Given the description of an element on the screen output the (x, y) to click on. 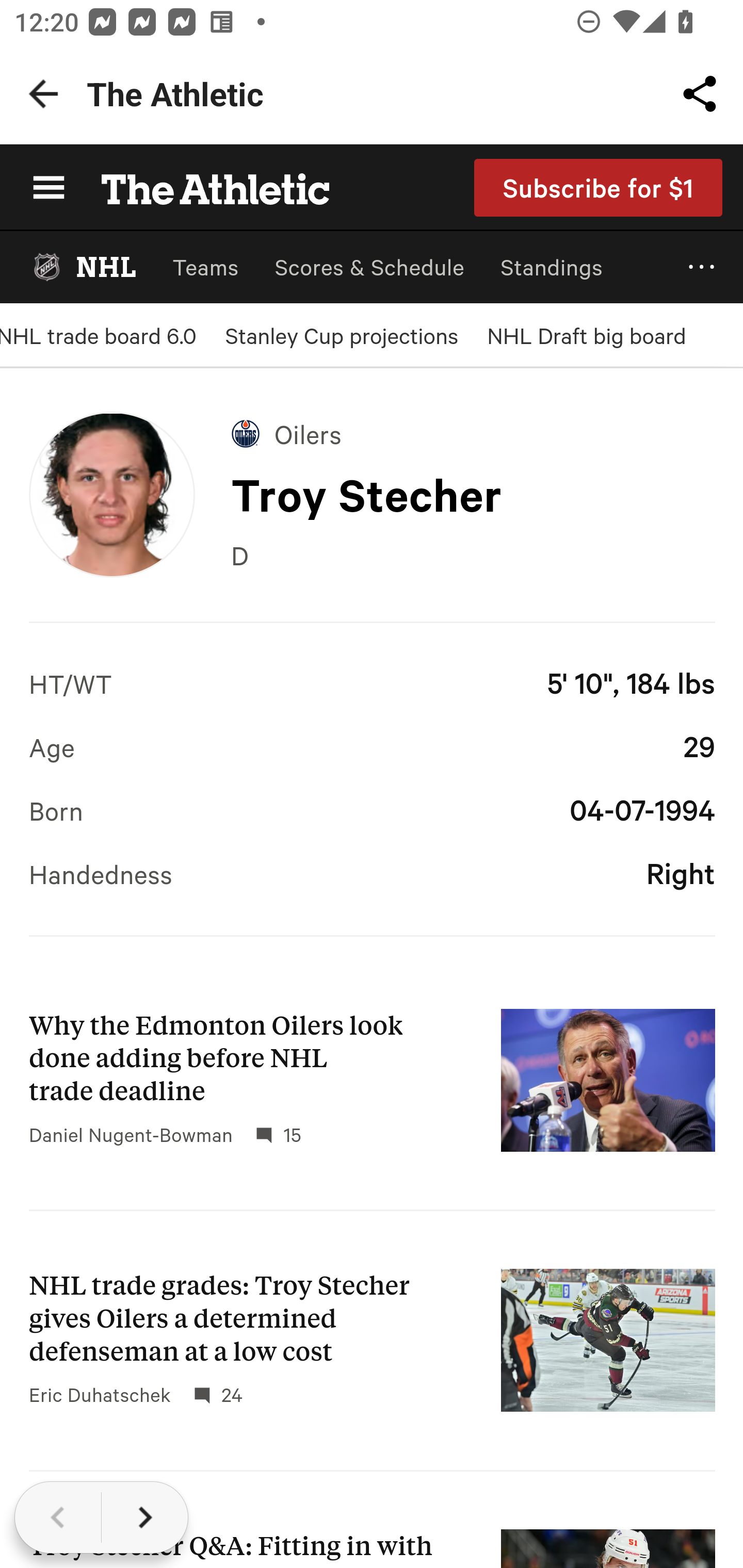
The Athletic (204, 187)
Subscribe for $1 (598, 187)
NHL NHL NHL NHL (82, 267)
Teams (205, 267)
Scores & Schedule (369, 267)
Standings (552, 267)
• • • (701, 267)
NHL trade board 6.0 (98, 335)
Stanley Cup projections (341, 335)
NHL Draft big board (586, 335)
T. Stecher (111, 494)
Oilers logo Oilers Oilers logo Oilers (287, 433)
Live News (371, 663)
Premier League (371, 743)
Champions League (371, 821)
Euro 2024 (371, 901)
